Given the description of an element on the screen output the (x, y) to click on. 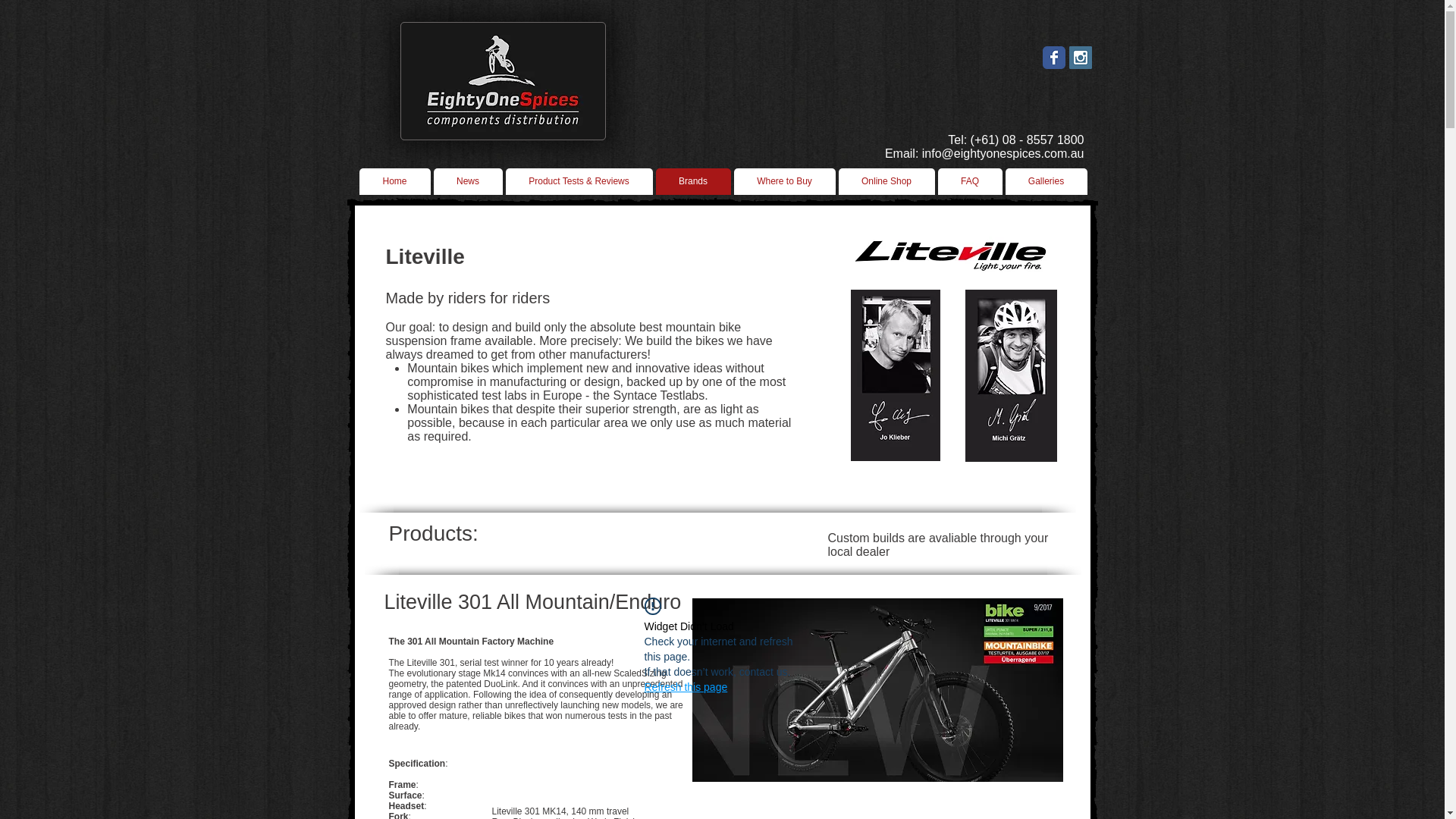
LV.jpg Element type: hover (895, 375)
Brands Element type: text (692, 181)
local dealer Element type: text (859, 551)
LV.jpg Element type: hover (1010, 375)
Home Element type: text (394, 181)
News Element type: text (467, 181)
Refresh this page Element type: text (686, 686)
Product Tests & Reviews Element type: text (578, 181)
EightyOneSpices Element type: hover (502, 80)
Online Shop Element type: text (886, 181)
